Given the description of an element on the screen output the (x, y) to click on. 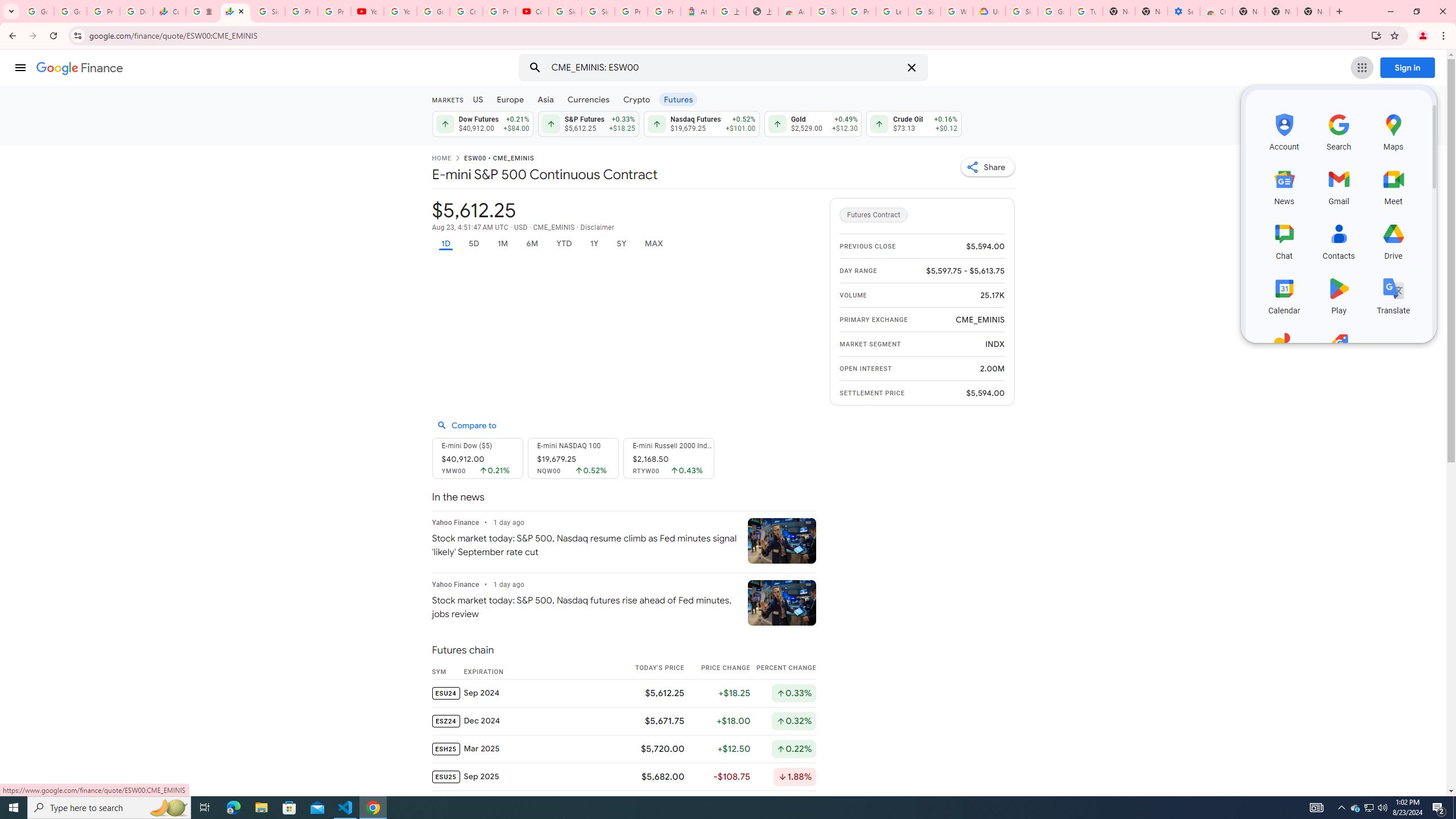
Crypto (636, 99)
Atour Hotel - Google hotels (697, 11)
Share (987, 167)
Sign in - Google Accounts (1021, 11)
Turn cookies on or off - Computer - Google Account Help (1086, 11)
YouTube (400, 11)
ESZ24 Dec 2024 $5,671.75 +$18.00 Up by 0.32% (623, 719)
Clear search (911, 67)
